Given the description of an element on the screen output the (x, y) to click on. 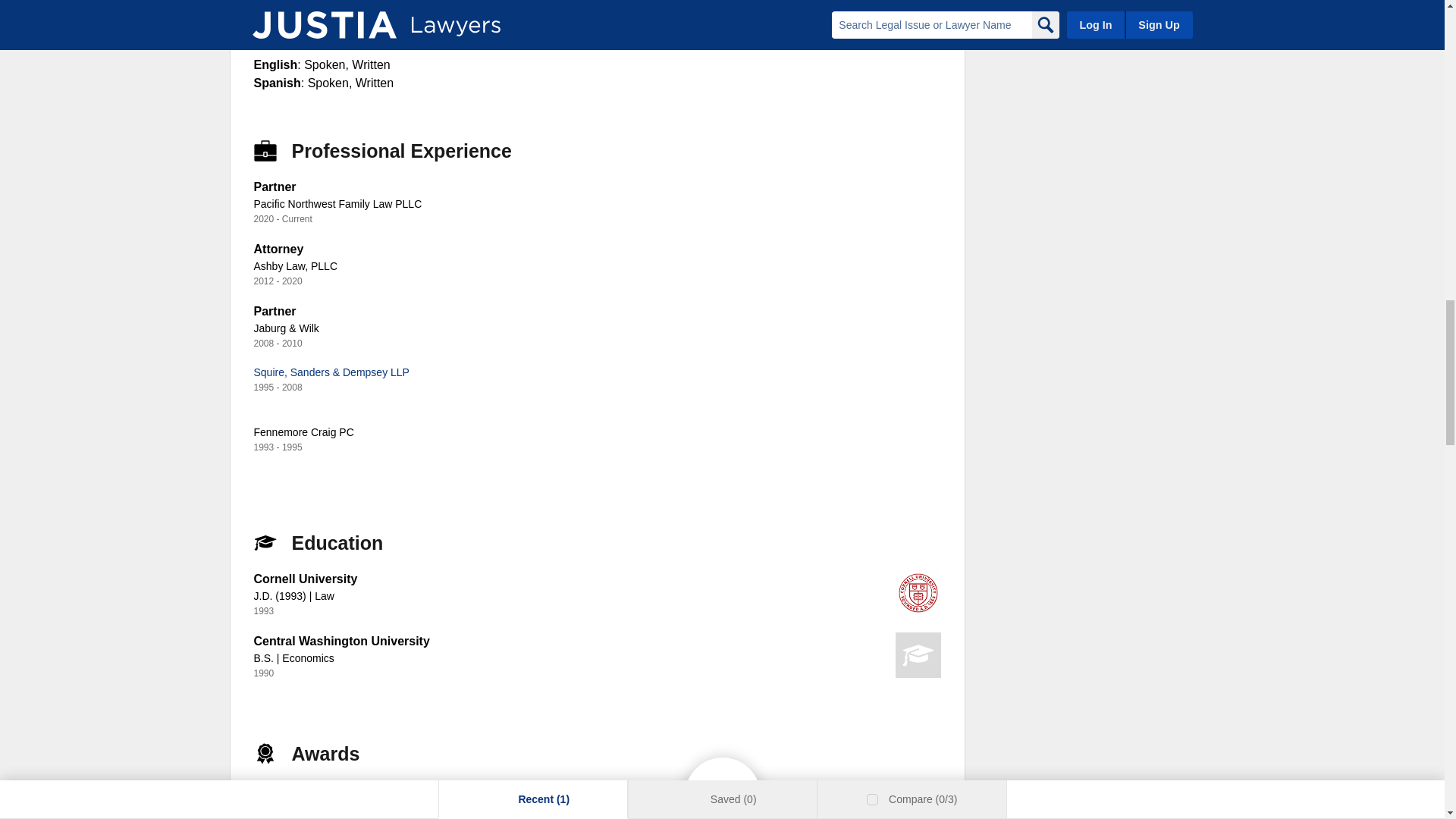
Inc. 500 (275, 788)
